Given the description of an element on the screen output the (x, y) to click on. 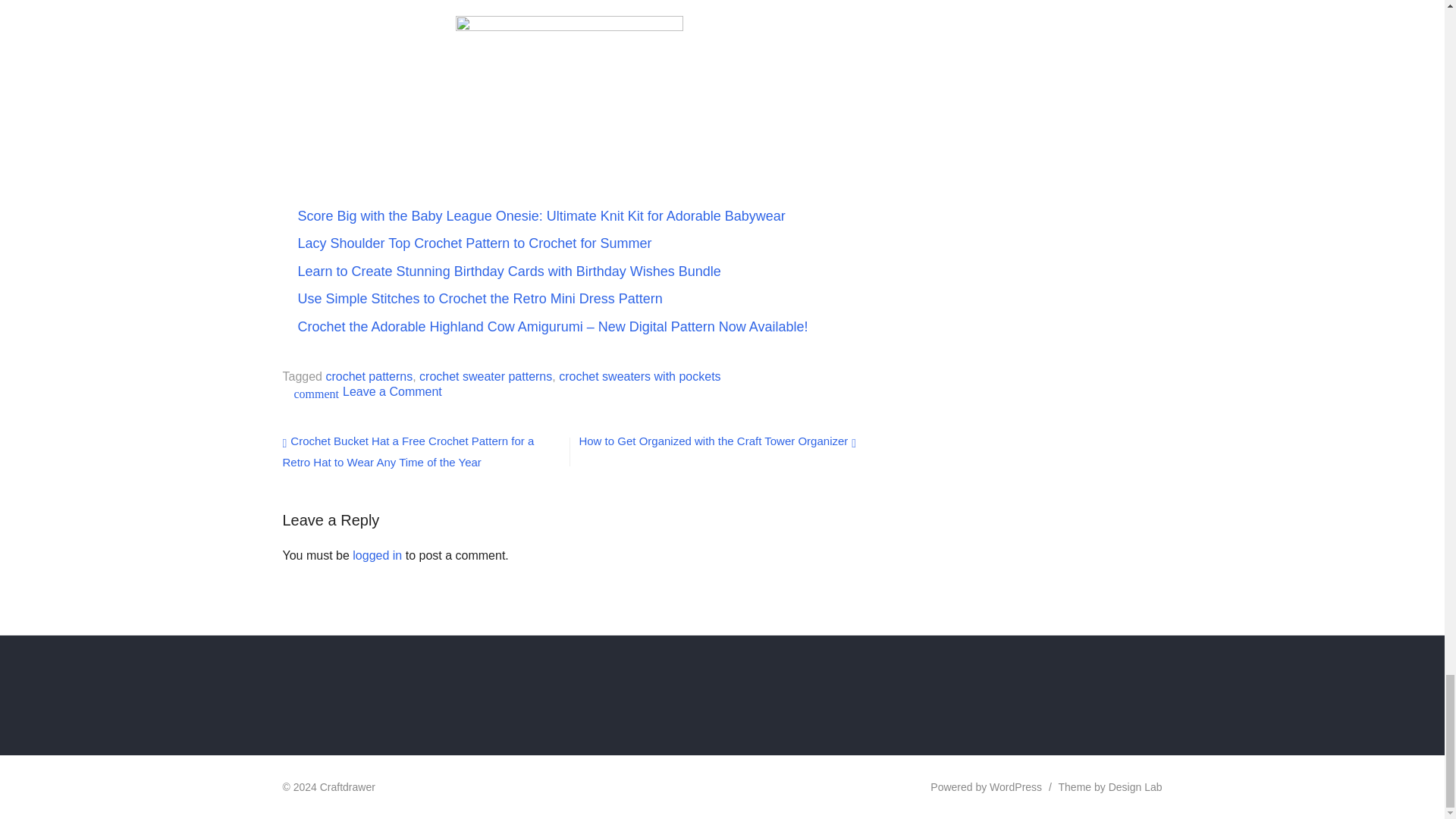
Lacy Shoulder Top Crochet Pattern to Crochet for Summer (473, 242)
